Given the description of an element on the screen output the (x, y) to click on. 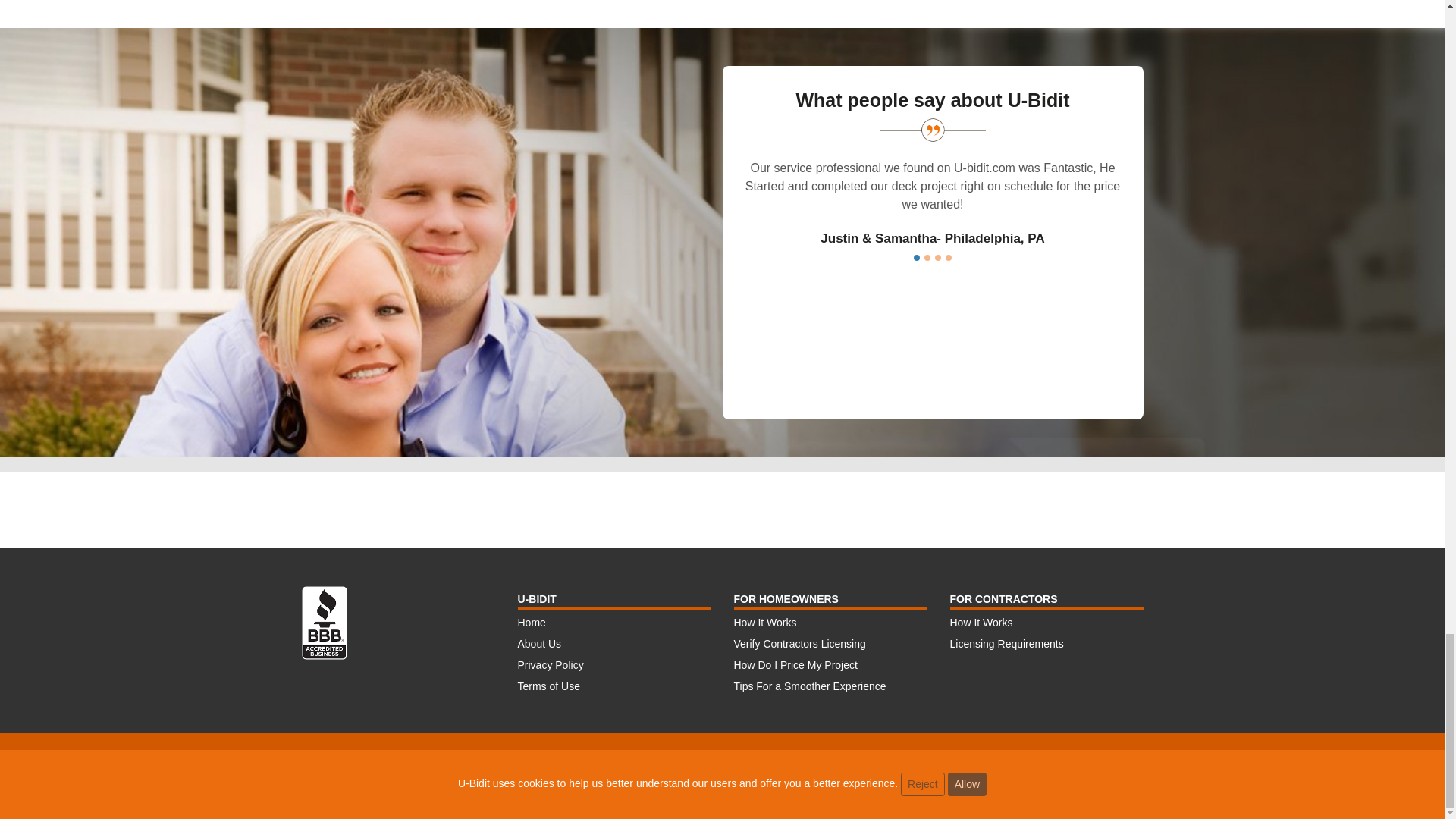
Home (530, 622)
